Given the description of an element on the screen output the (x, y) to click on. 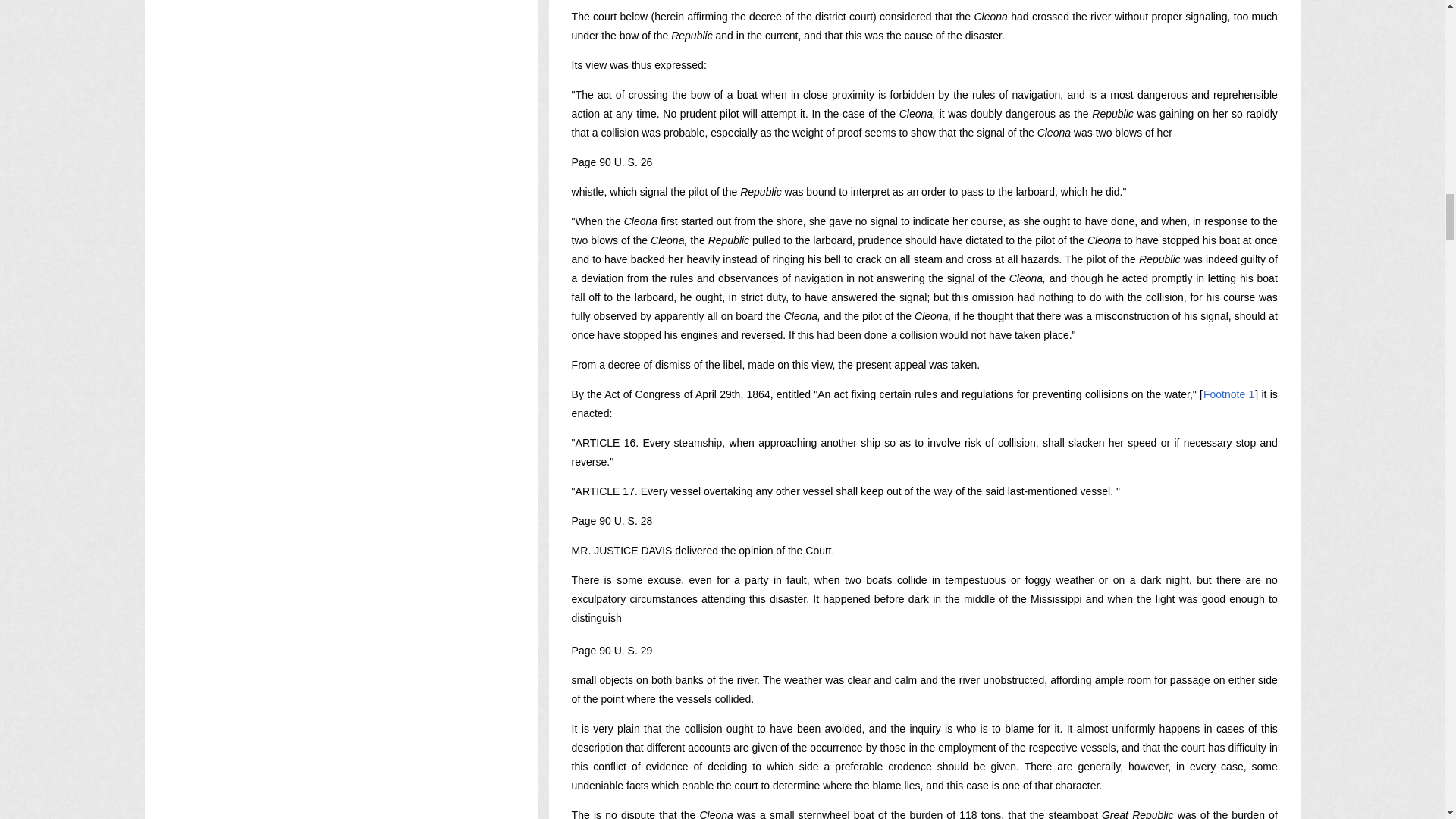
Page 90 U. S. 28 (612, 521)
Page 90 U. S. 29 (612, 650)
Page 90 U. S. 26 (612, 162)
